Given the description of an element on the screen output the (x, y) to click on. 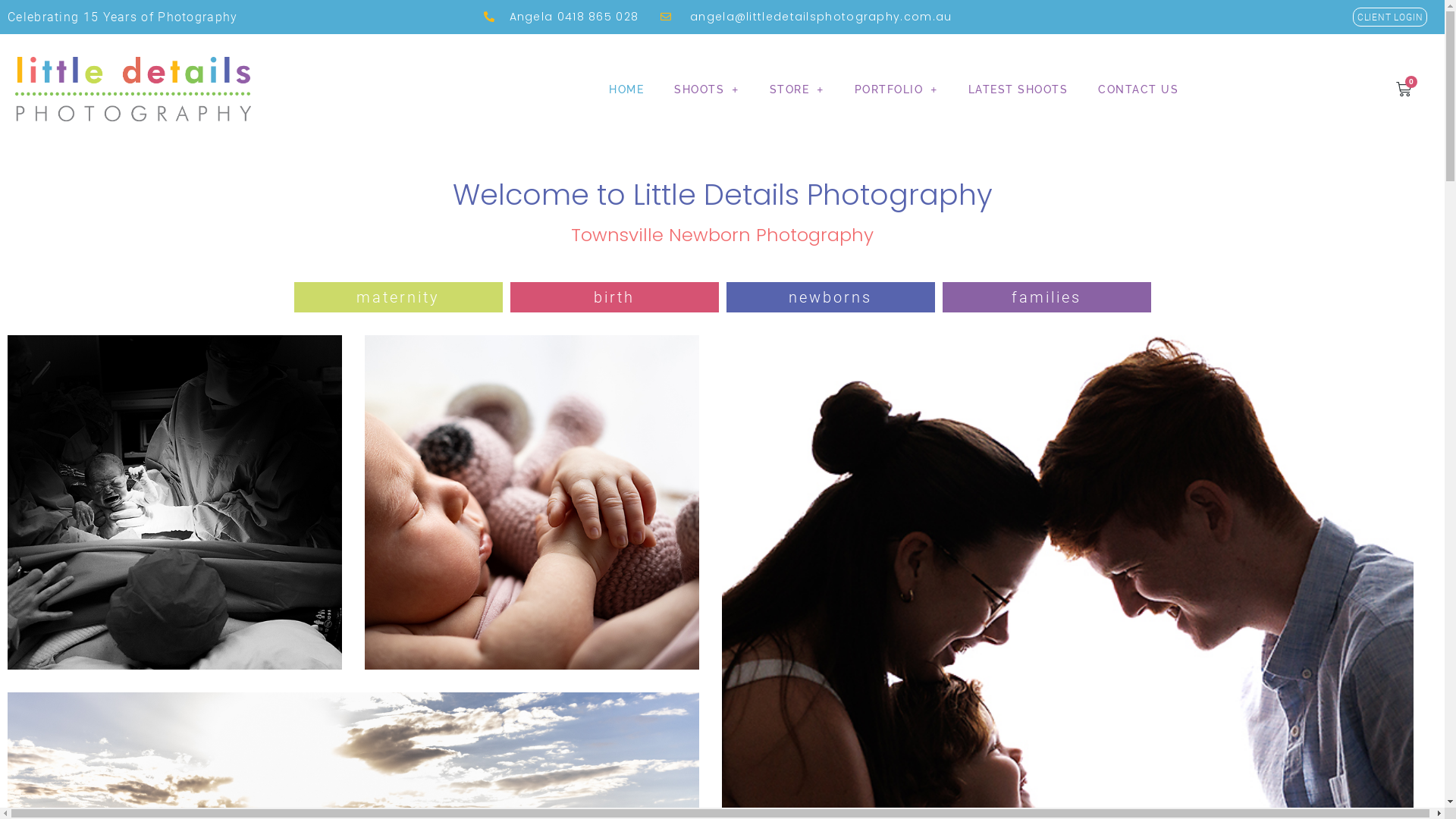
Angela 0418 865 028 Element type: text (560, 17)
0 Element type: text (1403, 89)
angela@littledetailsphotography.com.au Element type: text (805, 17)
CONTACT US Element type: text (1137, 89)
maternity Element type: text (397, 297)
STORE Element type: text (796, 89)
families Element type: text (1046, 297)
SHOOTS Element type: text (705, 89)
PORTFOLIO Element type: text (896, 89)
CLIENT LOGIN Element type: text (1389, 16)
LATEST SHOOTS Element type: text (1018, 89)
newborns Element type: text (830, 297)
birth Element type: text (613, 297)
HOME Element type: text (625, 89)
